Given the description of an element on the screen output the (x, y) to click on. 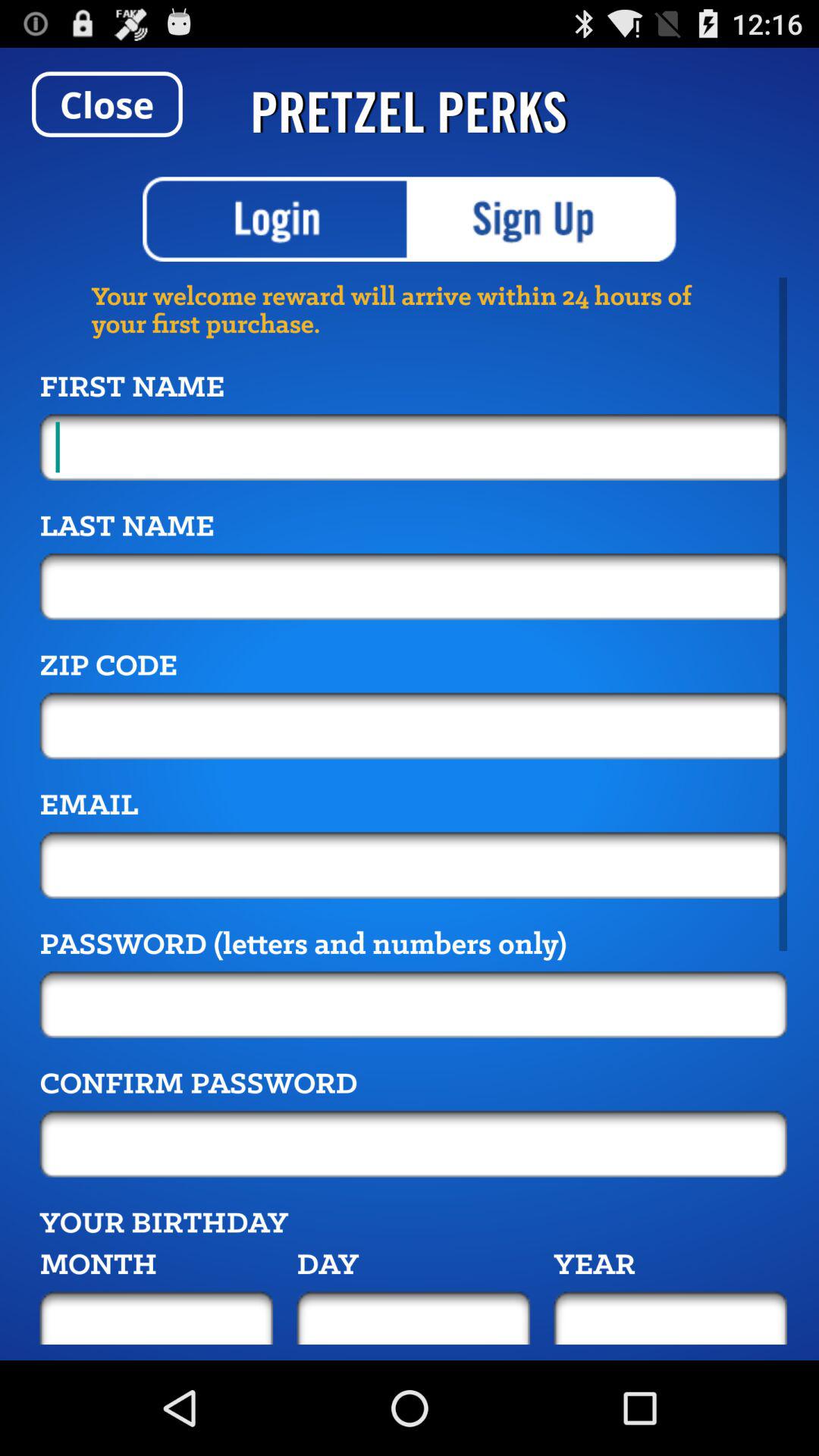
add birthday month (156, 1317)
